Given the description of an element on the screen output the (x, y) to click on. 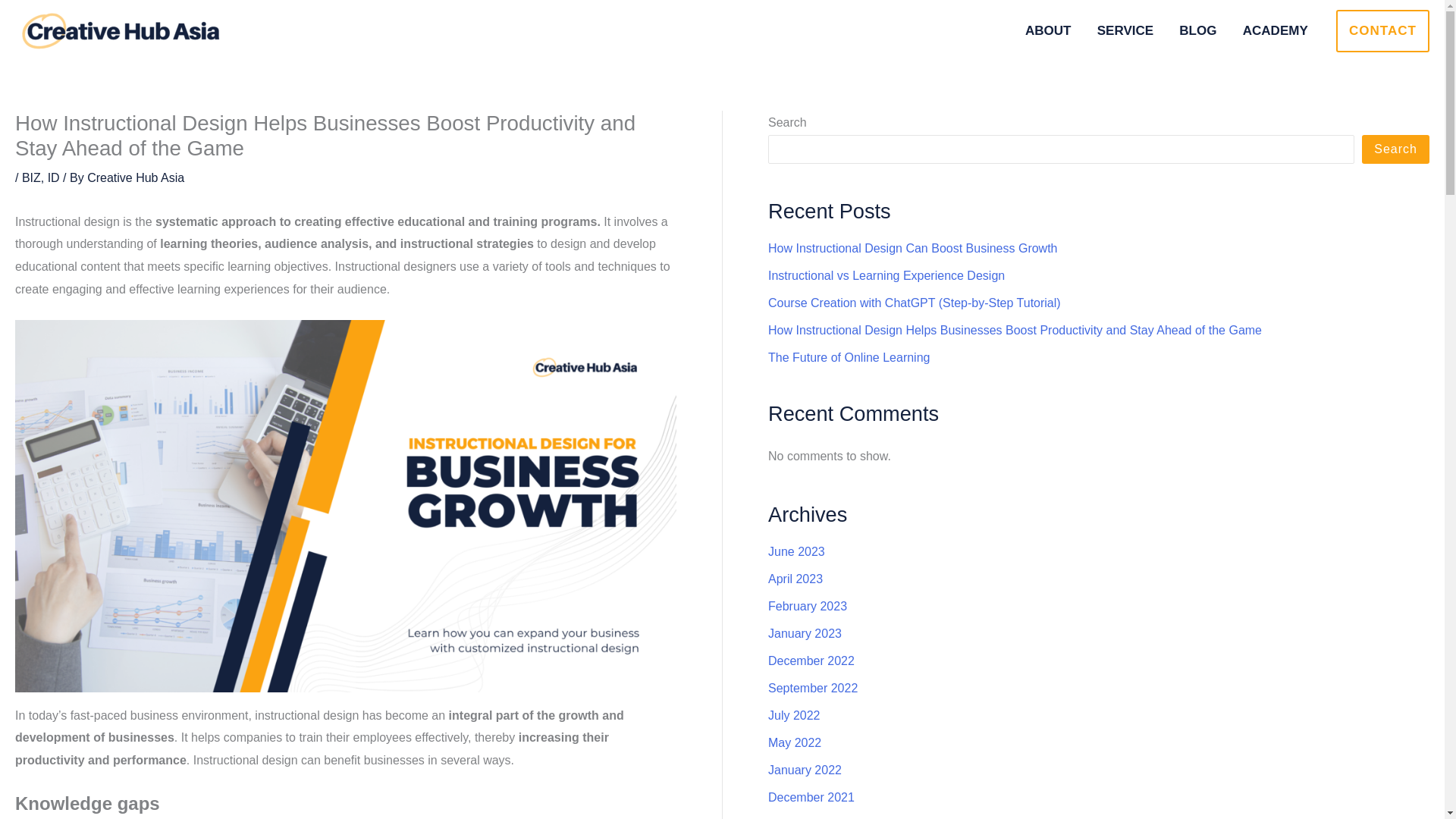
Instructional vs Learning Experience Design (886, 275)
View all posts by Creative Hub Asia (135, 177)
February 2023 (807, 605)
Search (1395, 149)
BIZ (30, 177)
December 2022 (811, 660)
CONTACT (1382, 30)
BLOG (1197, 30)
January 2023 (804, 633)
ID (53, 177)
Creative Hub Asia (135, 177)
June 2023 (796, 551)
How Instructional Design Can Boost Business Growth (913, 247)
ACADEMY (1275, 30)
